Given the description of an element on the screen output the (x, y) to click on. 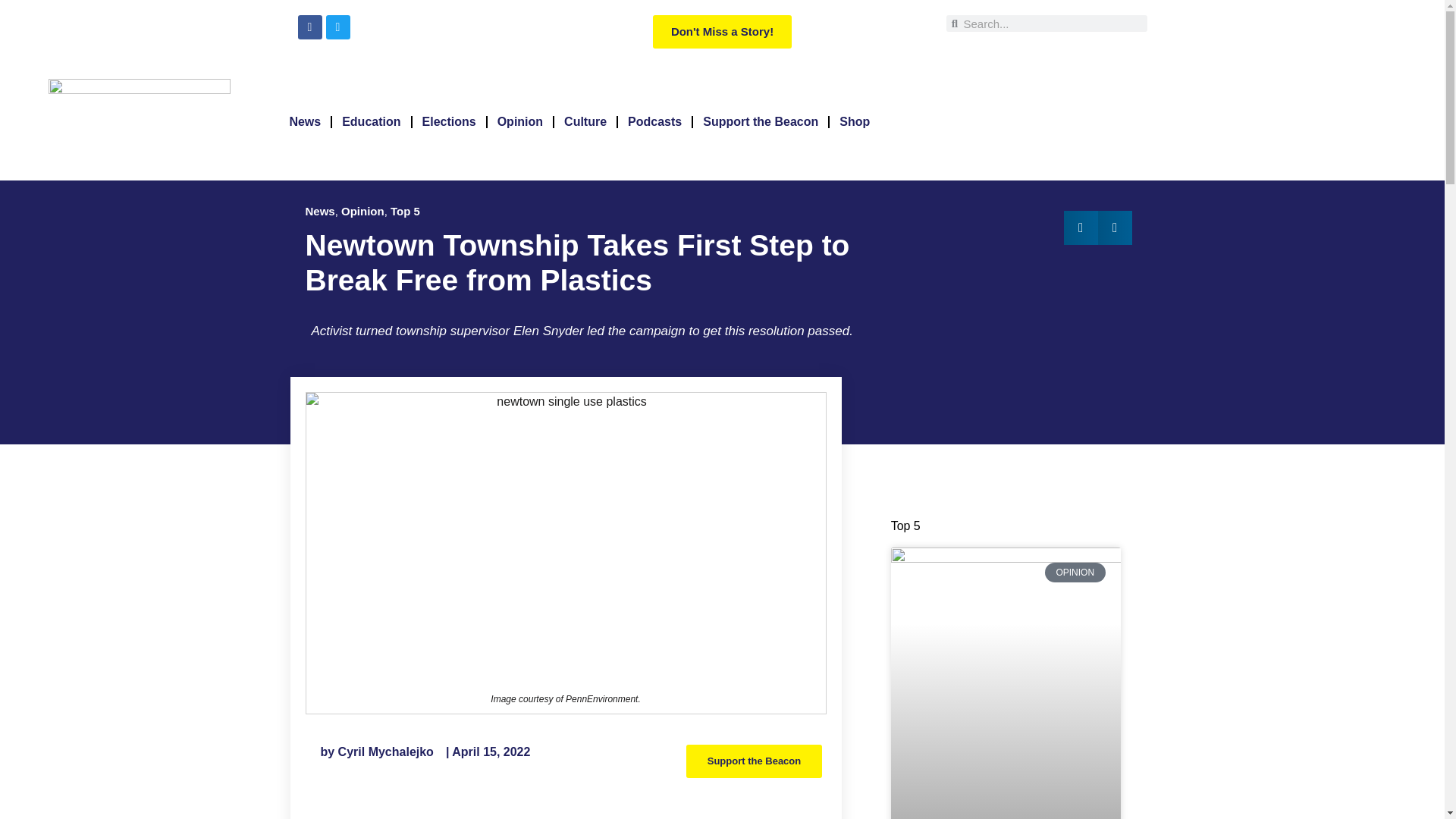
Don't Miss a Story! (722, 31)
Opinion (520, 121)
Elections (449, 121)
Culture (584, 121)
News (304, 121)
Opinion (362, 210)
News (319, 210)
Support the Beacon (753, 761)
by Cyril Mychalejko (376, 752)
Shop (854, 121)
Podcasts (654, 121)
Education (370, 121)
Support the Beacon (760, 121)
Top 5 (405, 210)
